Given the description of an element on the screen output the (x, y) to click on. 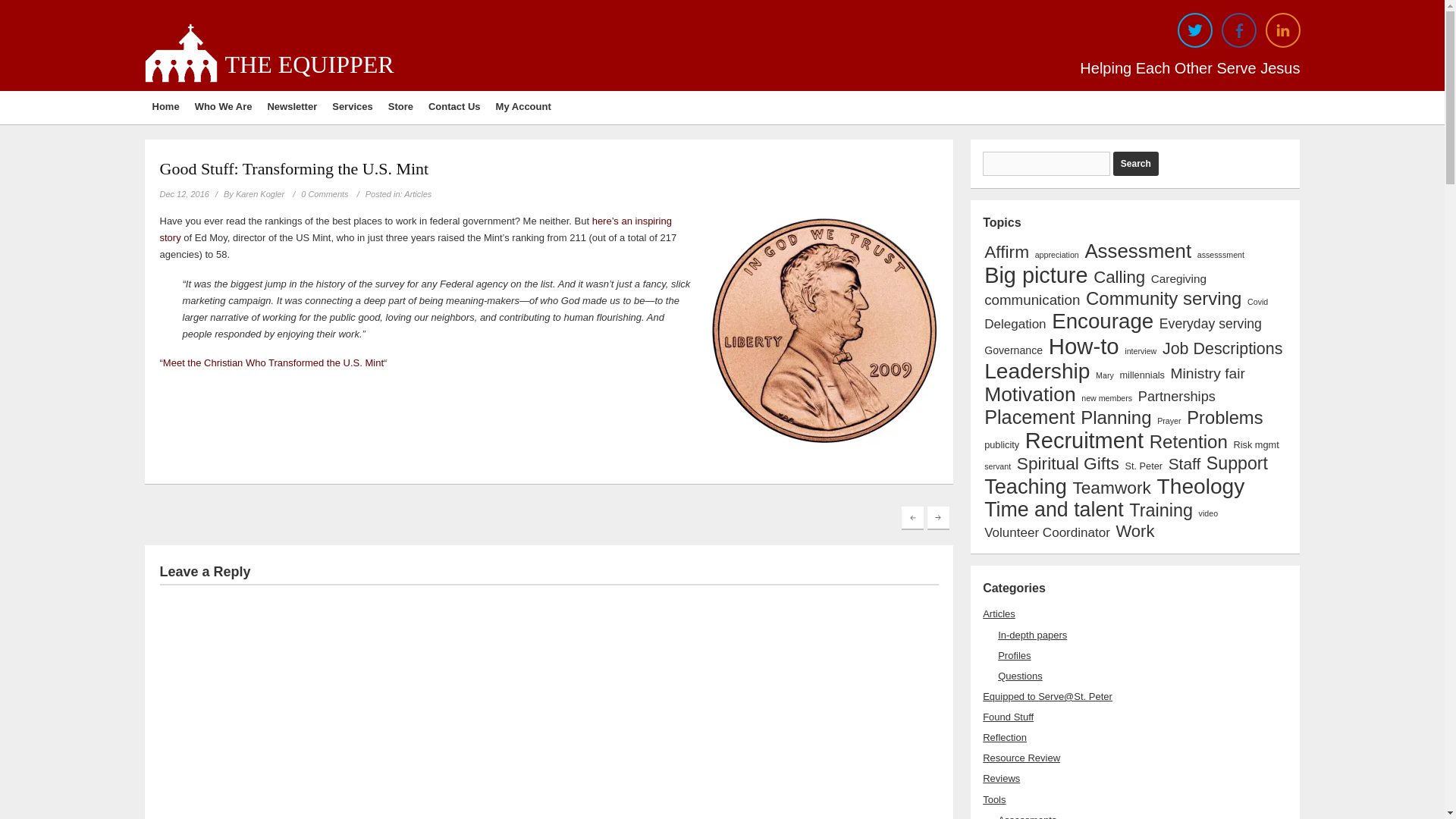
communication (1032, 300)
My Account (523, 107)
Calling (1118, 277)
Caregiving (1179, 278)
appreciation (1056, 254)
Dec 12, 2016 (183, 194)
THE EQUIPPER (308, 63)
Big picture (1035, 275)
assesssment (1220, 254)
0 Comments (316, 194)
Search (1135, 163)
Search (1135, 163)
Who We Are (223, 107)
Community serving (1163, 298)
